Given the description of an element on the screen output the (x, y) to click on. 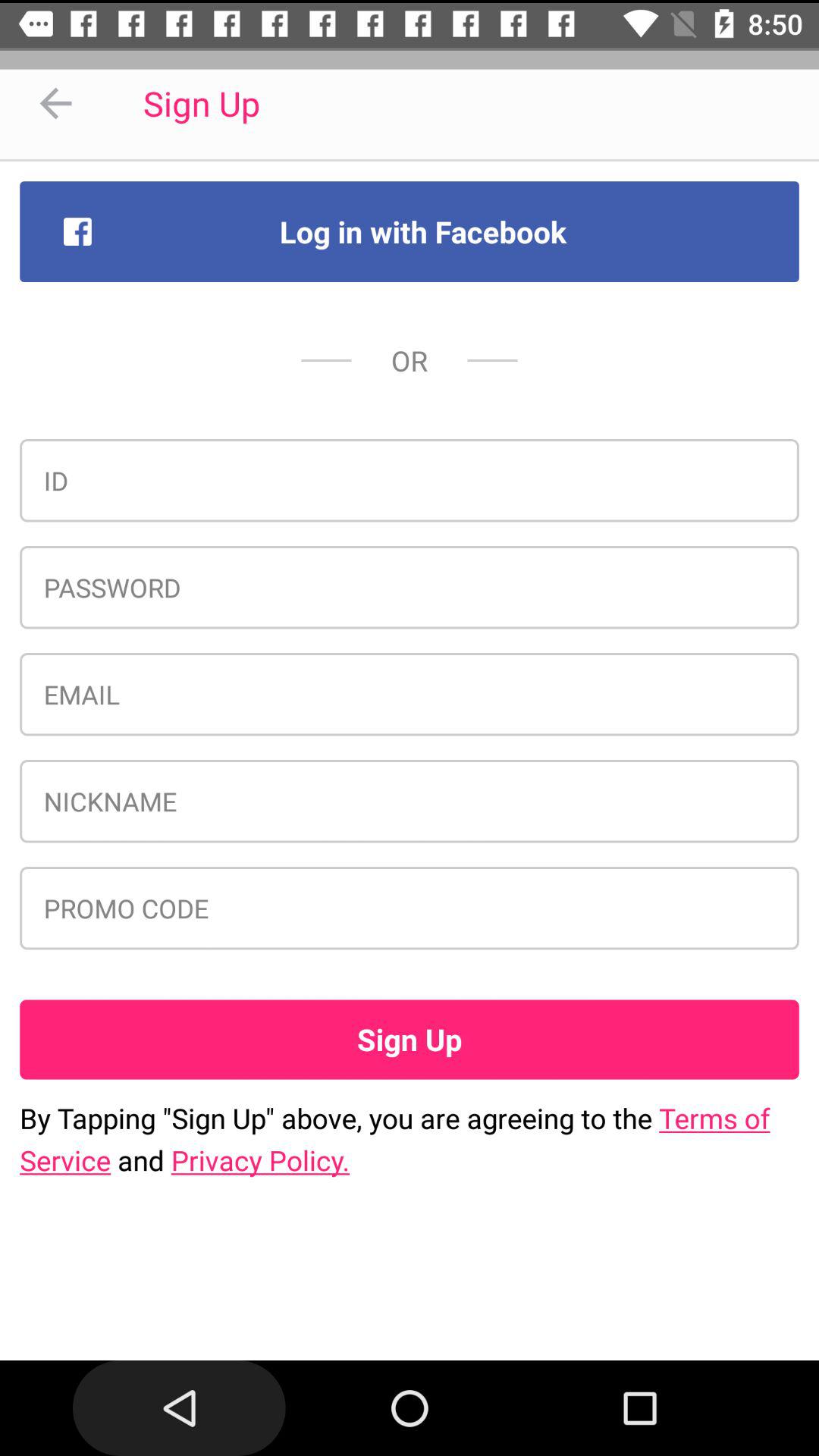
choose icon above the sign up (409, 907)
